Given the description of an element on the screen output the (x, y) to click on. 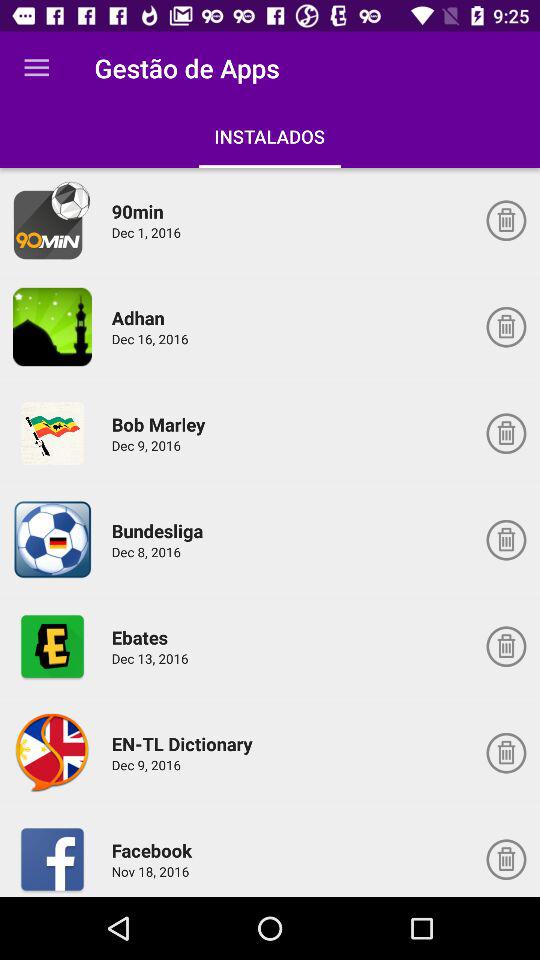
open app info (52, 220)
